Given the description of an element on the screen output the (x, y) to click on. 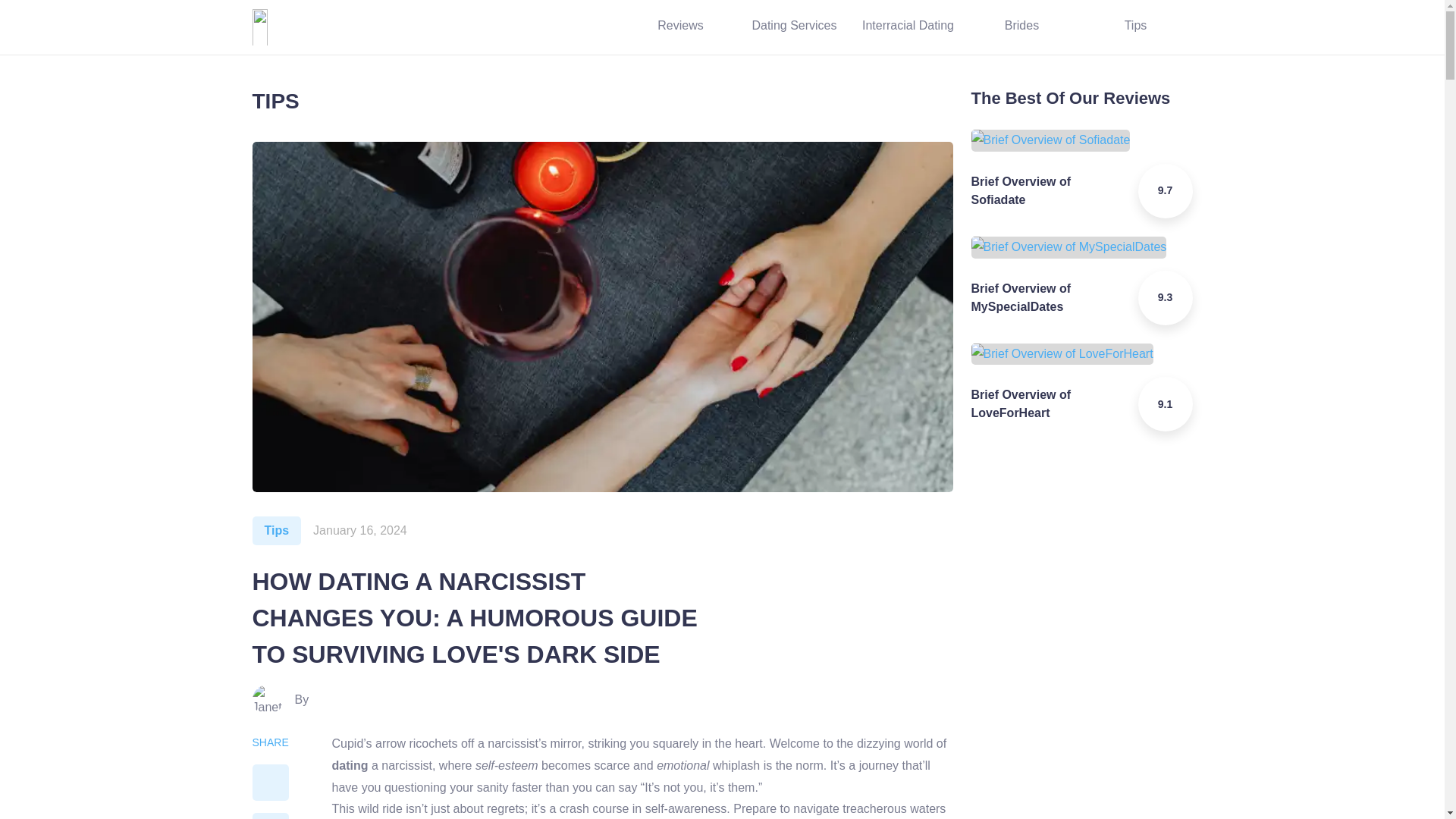
We are on Facebook (550, 27)
Tips (1135, 27)
Brides (1020, 27)
Share on Twitter (269, 816)
Dating Services (793, 27)
Interracial Dating (906, 27)
Share on Facebook (269, 782)
Tips (276, 530)
We are on Twitter (508, 27)
We are on Instagram (466, 27)
